Given the description of an element on the screen output the (x, y) to click on. 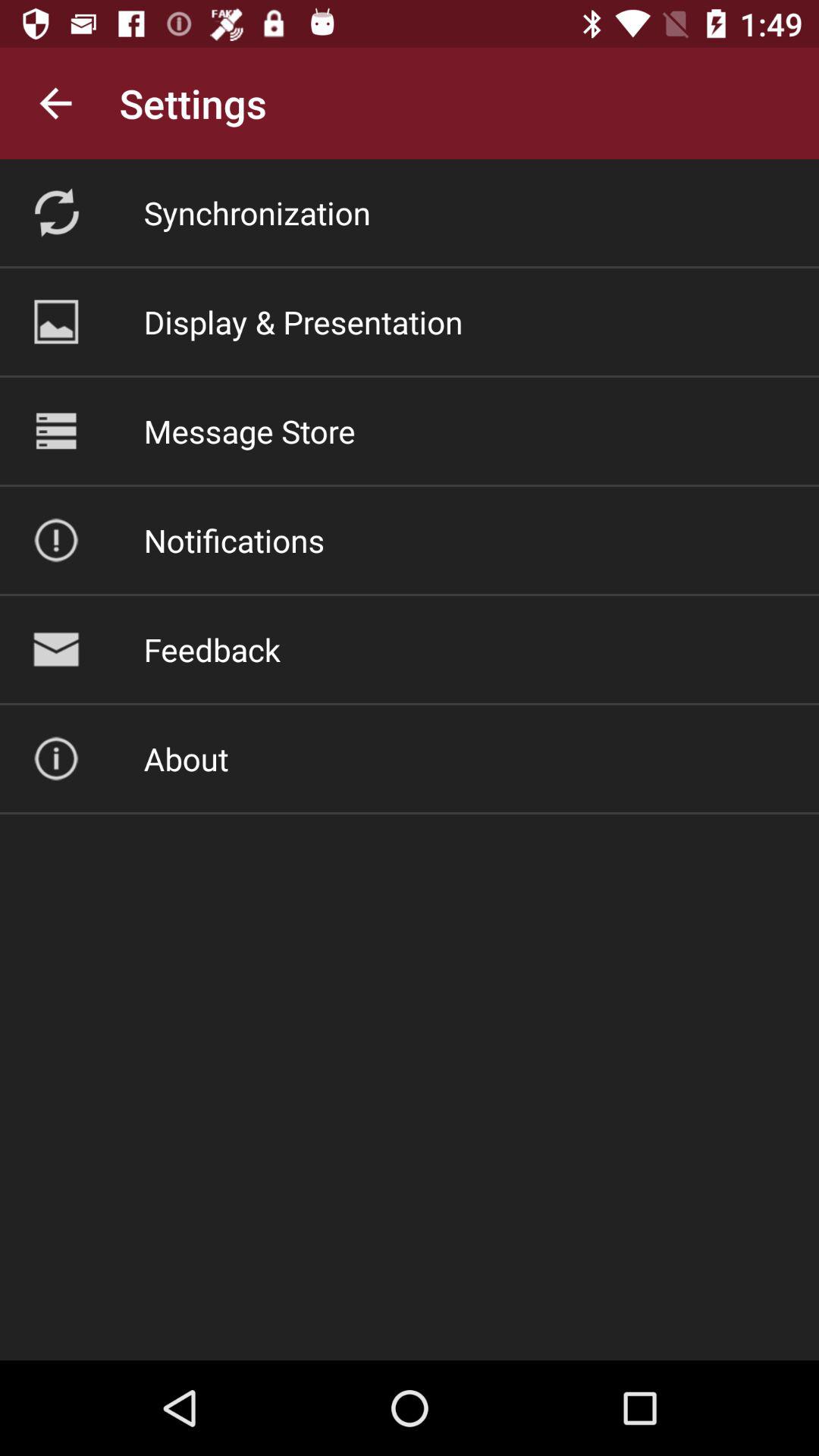
turn off the icon below the display & presentation icon (249, 430)
